Given the description of an element on the screen output the (x, y) to click on. 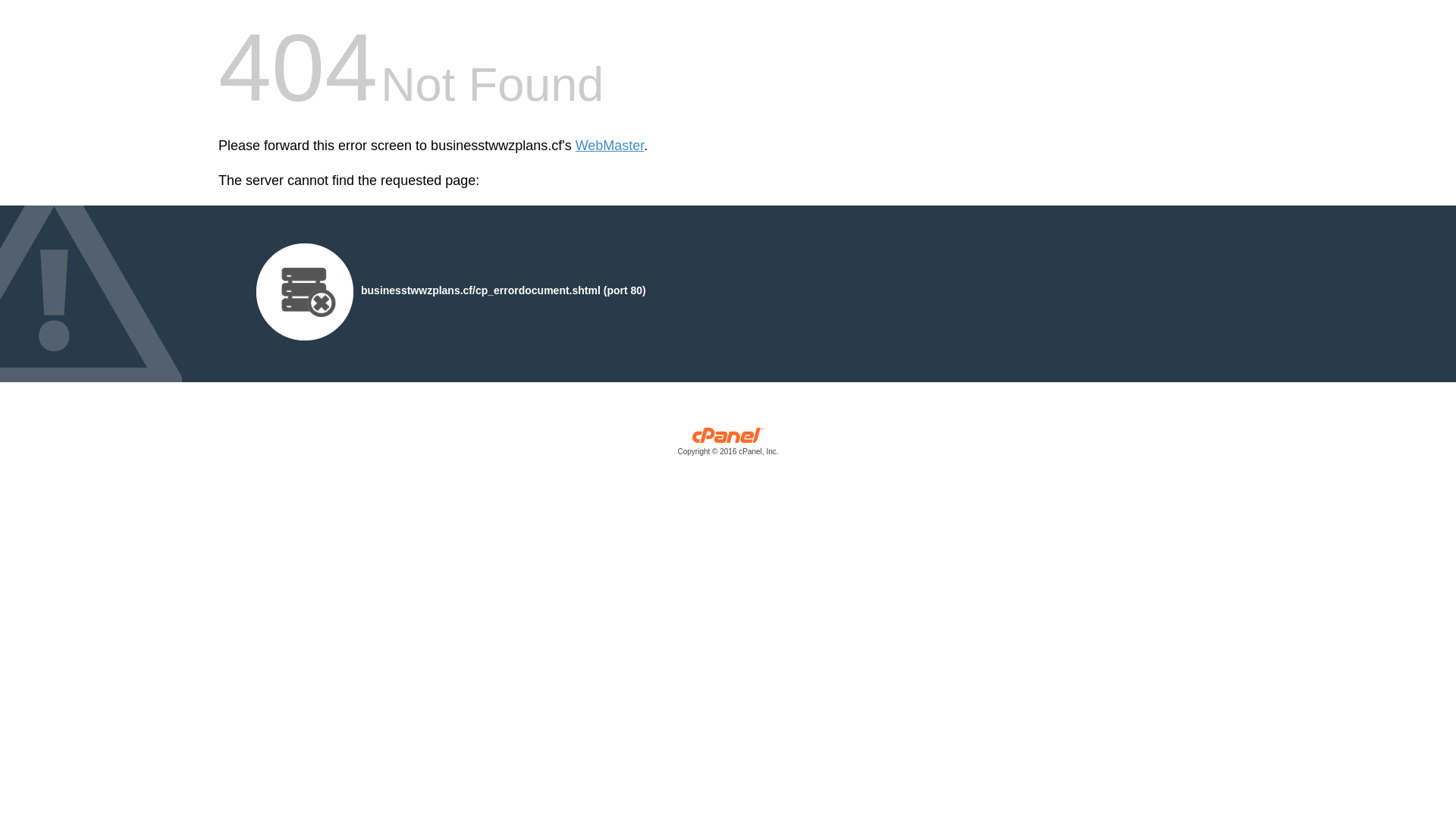
WebMaster Element type: text (609, 145)
